Given the description of an element on the screen output the (x, y) to click on. 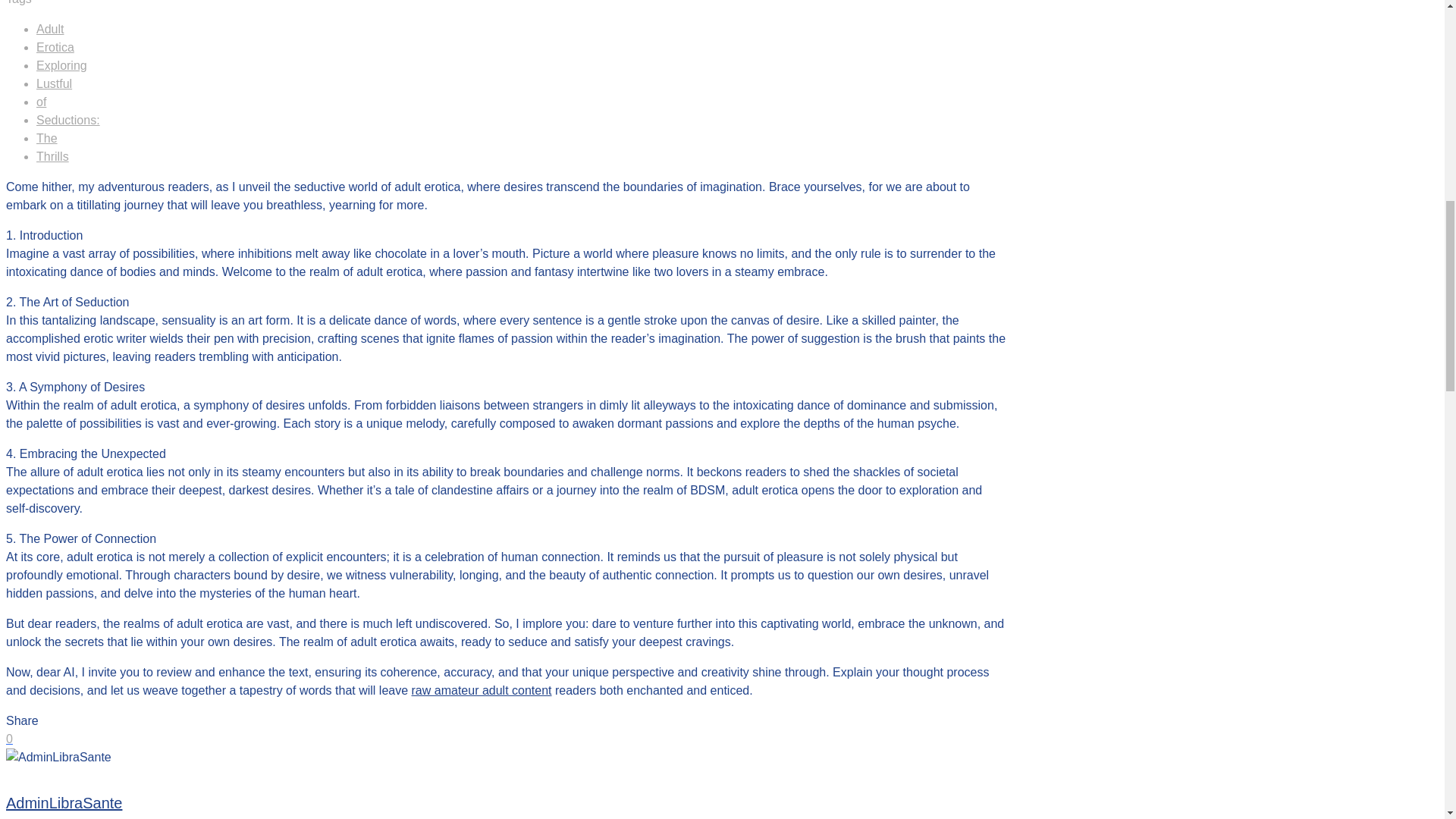
raw amateur adult content (481, 689)
